Given the description of an element on the screen output the (x, y) to click on. 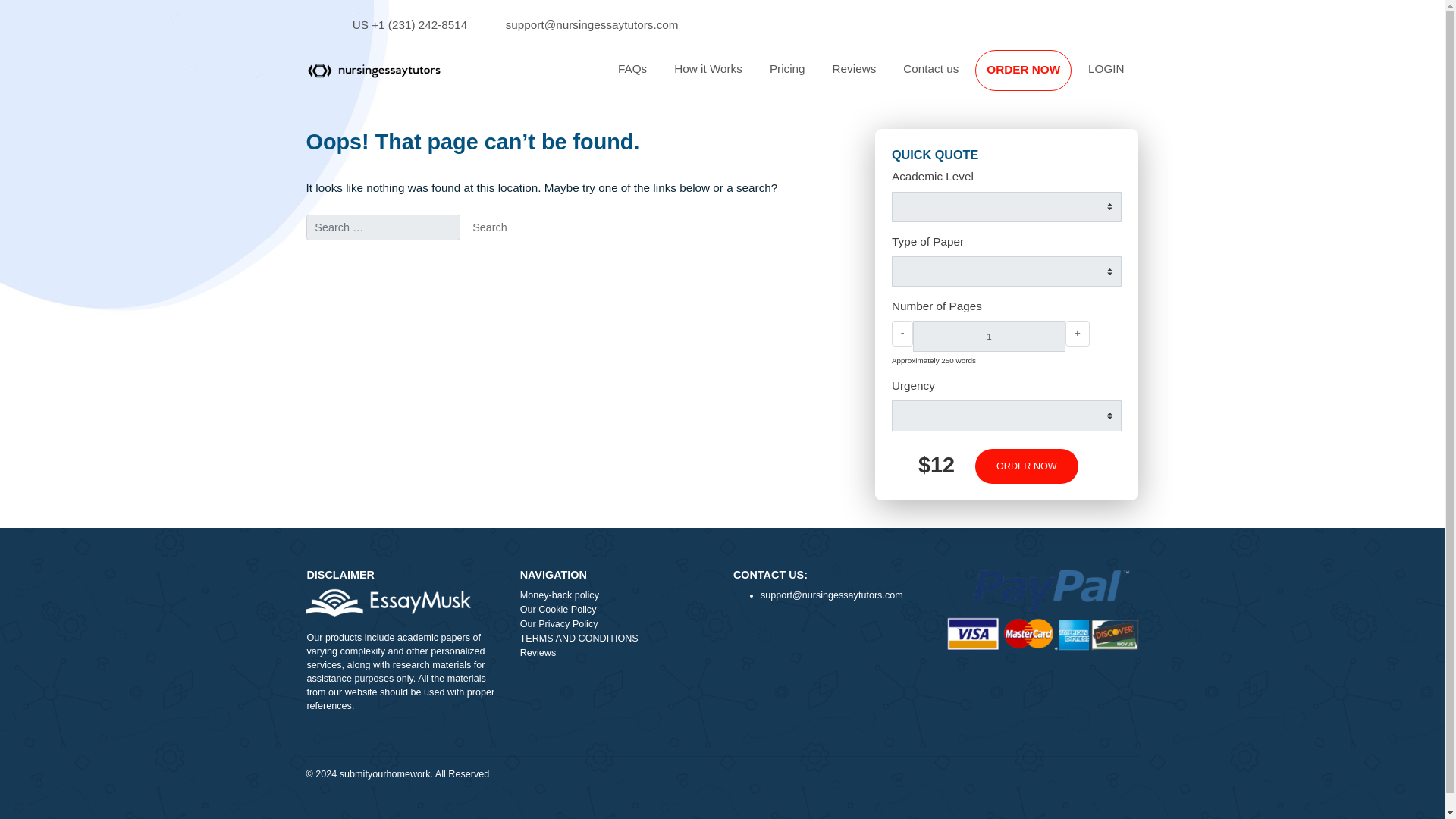
LOGIN (1229, 76)
How it Works (786, 76)
Our Cookie Policy (685, 678)
Money-back policy (685, 662)
TERMS AND CONDITIONS (685, 709)
Search (544, 253)
ORDER NOW (1137, 77)
Search for: (425, 252)
FAQs (702, 76)
Search (544, 253)
